Given the description of an element on the screen output the (x, y) to click on. 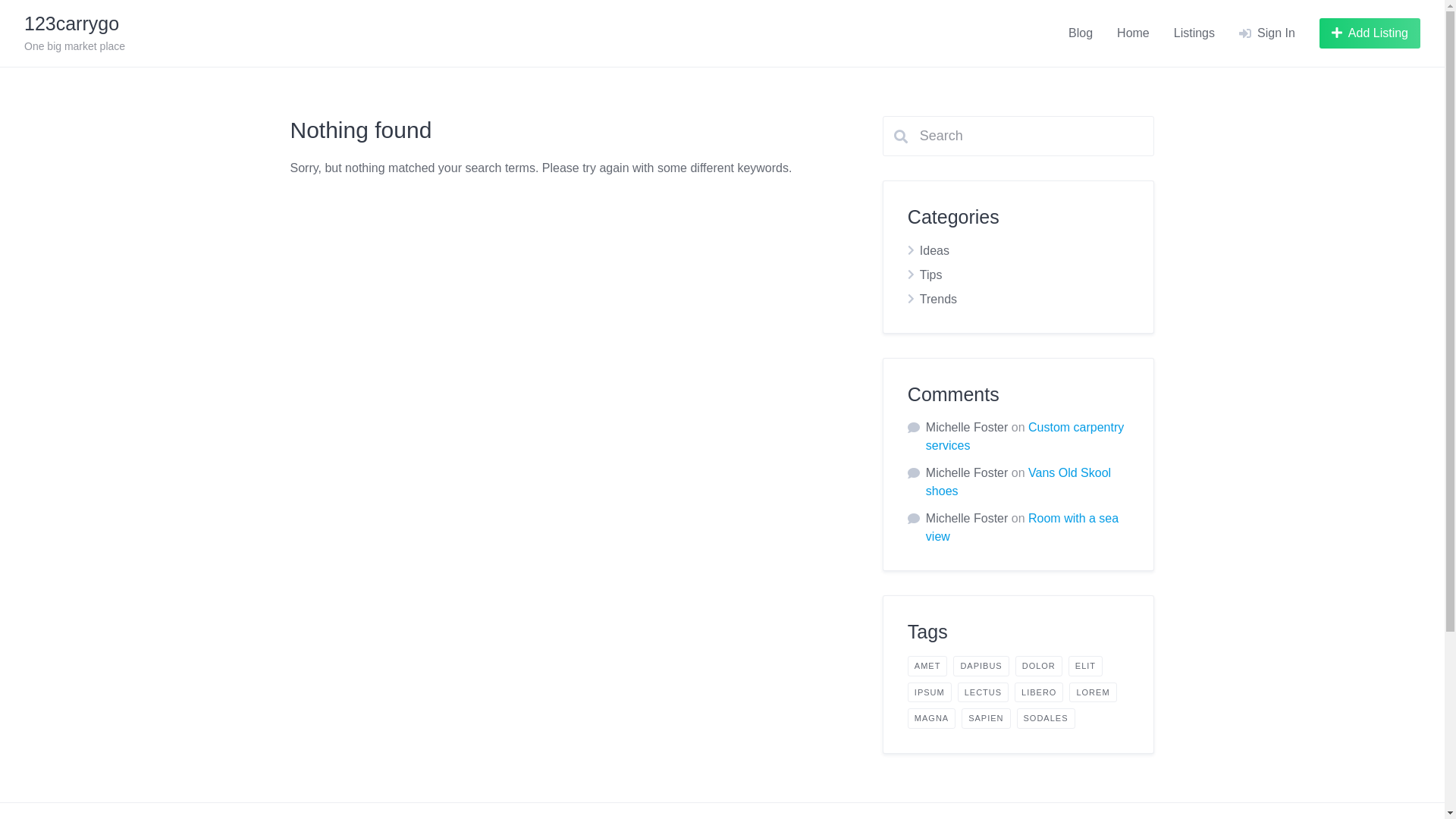
SODALES Element type: text (1045, 718)
AMET Element type: text (927, 665)
Custom carpentry services Element type: text (1024, 435)
LECTUS Element type: text (982, 692)
SAPIEN Element type: text (985, 718)
DOLOR Element type: text (1038, 665)
IPSUM Element type: text (929, 692)
Vans Old Skool shoes Element type: text (1017, 481)
LOREM Element type: text (1092, 692)
Listings Element type: text (1193, 33)
123carrygo
One big market place Element type: text (74, 33)
Sign In Element type: text (1267, 33)
ELIT Element type: text (1085, 665)
Ideas Element type: text (934, 250)
MAGNA Element type: text (931, 718)
Blog Element type: text (1080, 33)
Trends Element type: text (938, 298)
Tips Element type: text (930, 274)
Room with a sea view Element type: text (1021, 526)
Home Element type: text (1133, 33)
Add Listing Element type: text (1369, 33)
LIBERO Element type: text (1038, 692)
DAPIBUS Element type: text (980, 665)
